Given the description of an element on the screen output the (x, y) to click on. 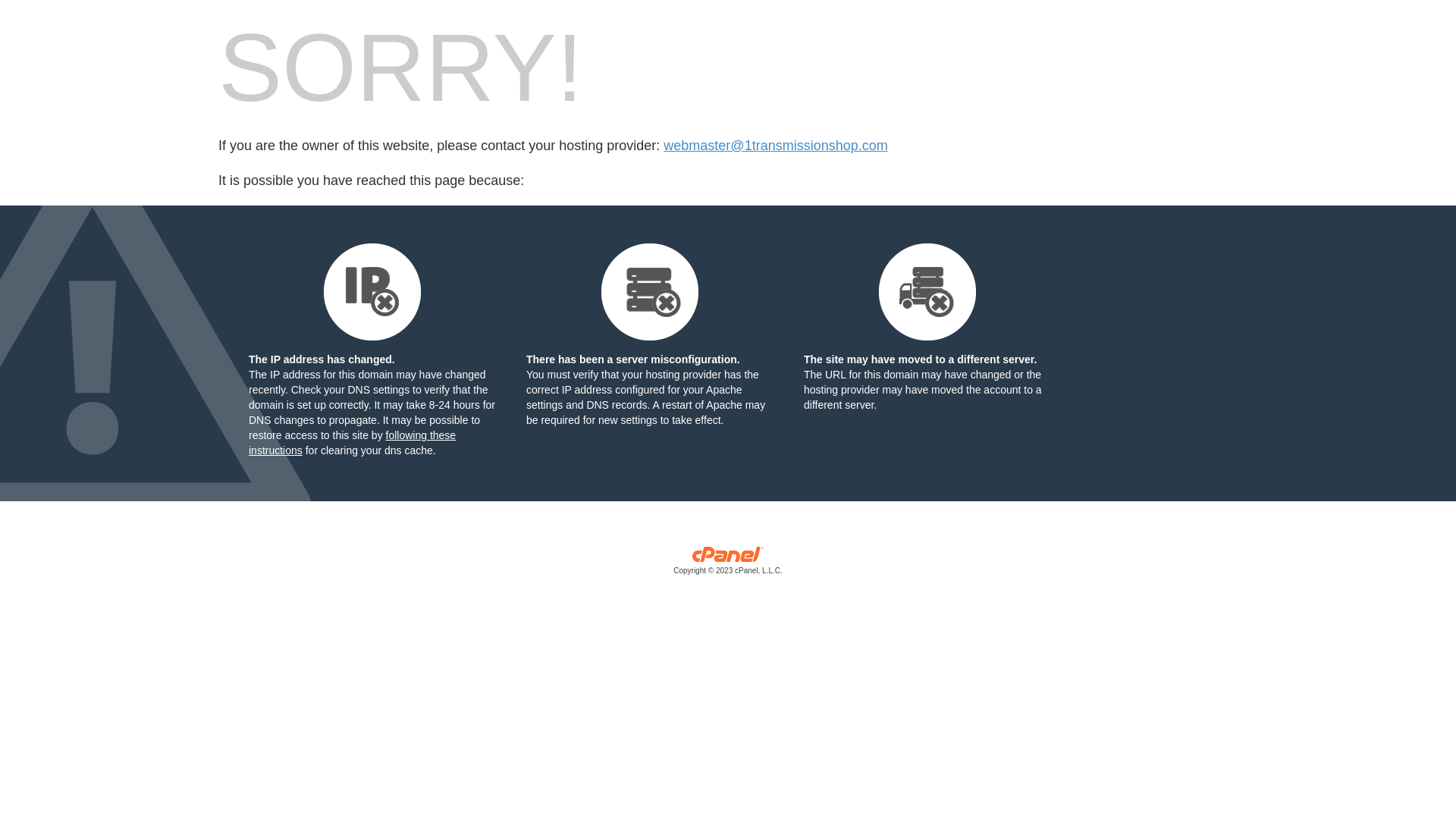
webmaster@1transmissionshop.com Element type: text (775, 145)
following these instructions Element type: text (351, 442)
